Given the description of an element on the screen output the (x, y) to click on. 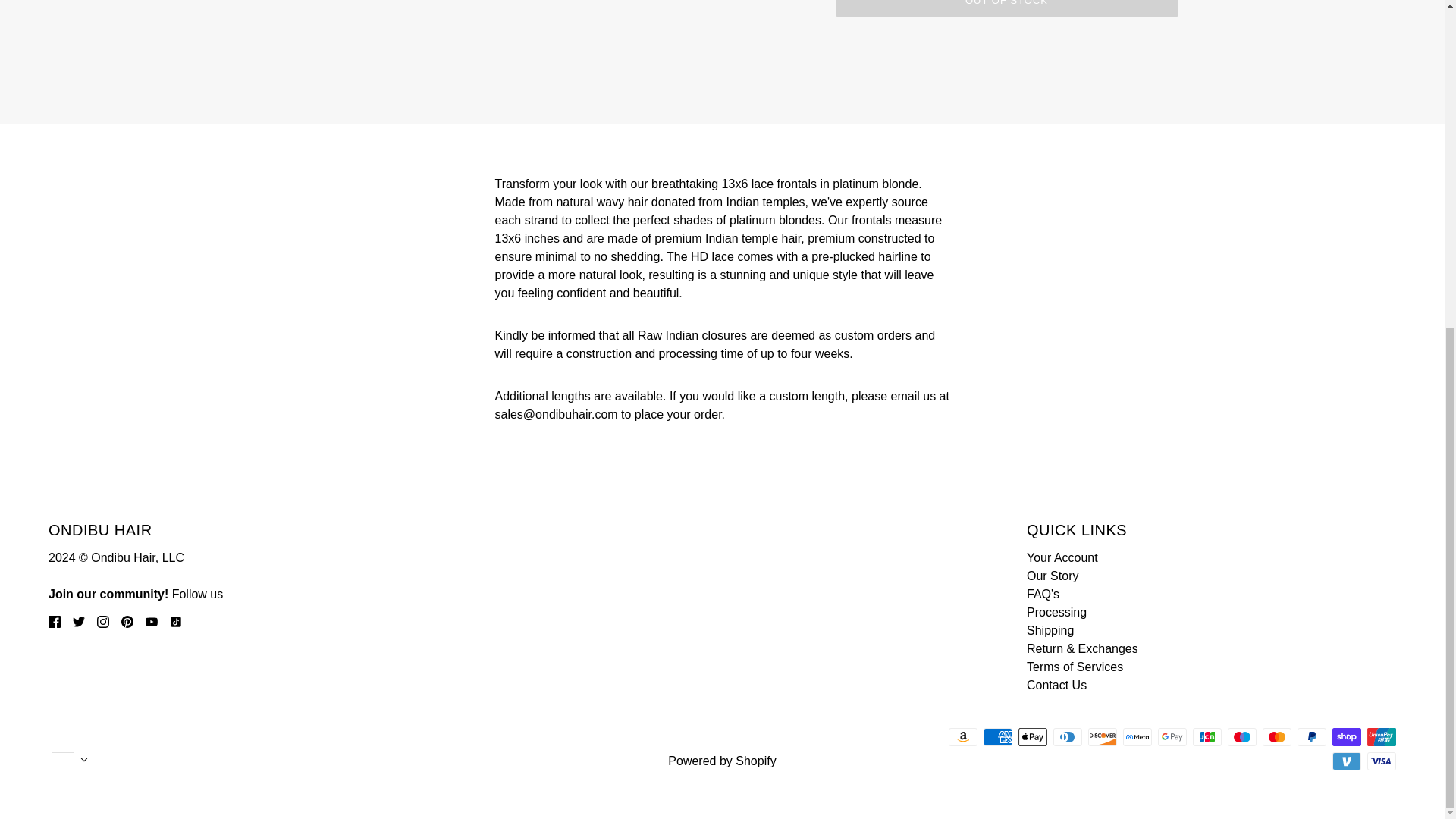
Maestro (1241, 737)
Terms of Services (1074, 666)
Meta Pay (1136, 737)
Apple Pay (1031, 737)
Google Pay (1171, 737)
Mastercard (1276, 737)
Instagram (907, 359)
Twitter (941, 359)
American Express (997, 737)
Amazon (962, 737)
Processing  (1056, 612)
Shipping  (1050, 630)
Pinterest (975, 359)
Our Story (1052, 575)
FAQ's (1042, 594)
